Given the description of an element on the screen output the (x, y) to click on. 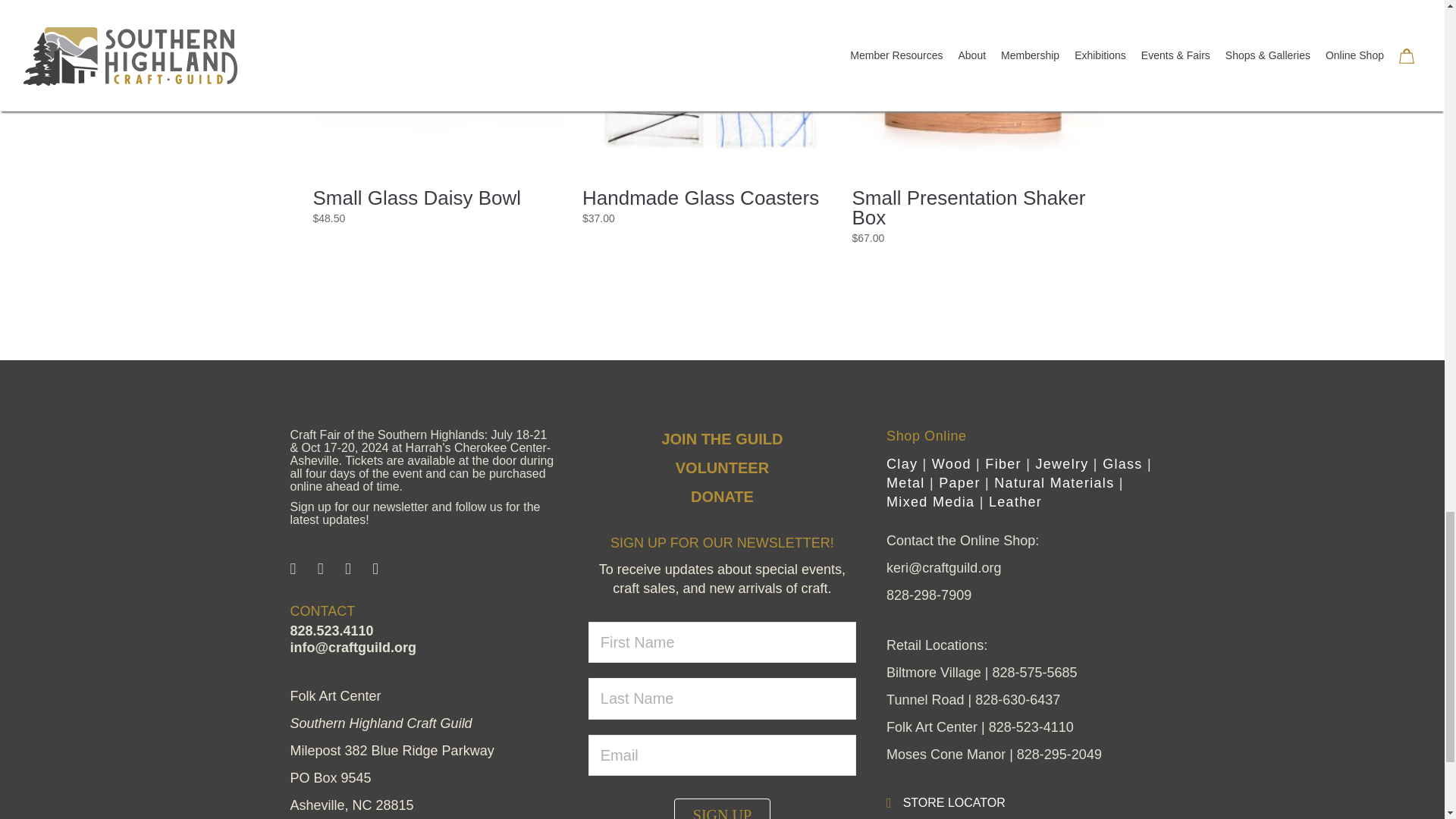
Donate (722, 496)
Volunteer (721, 467)
JOIN THE GUILD (722, 438)
